Given the description of an element on the screen output the (x, y) to click on. 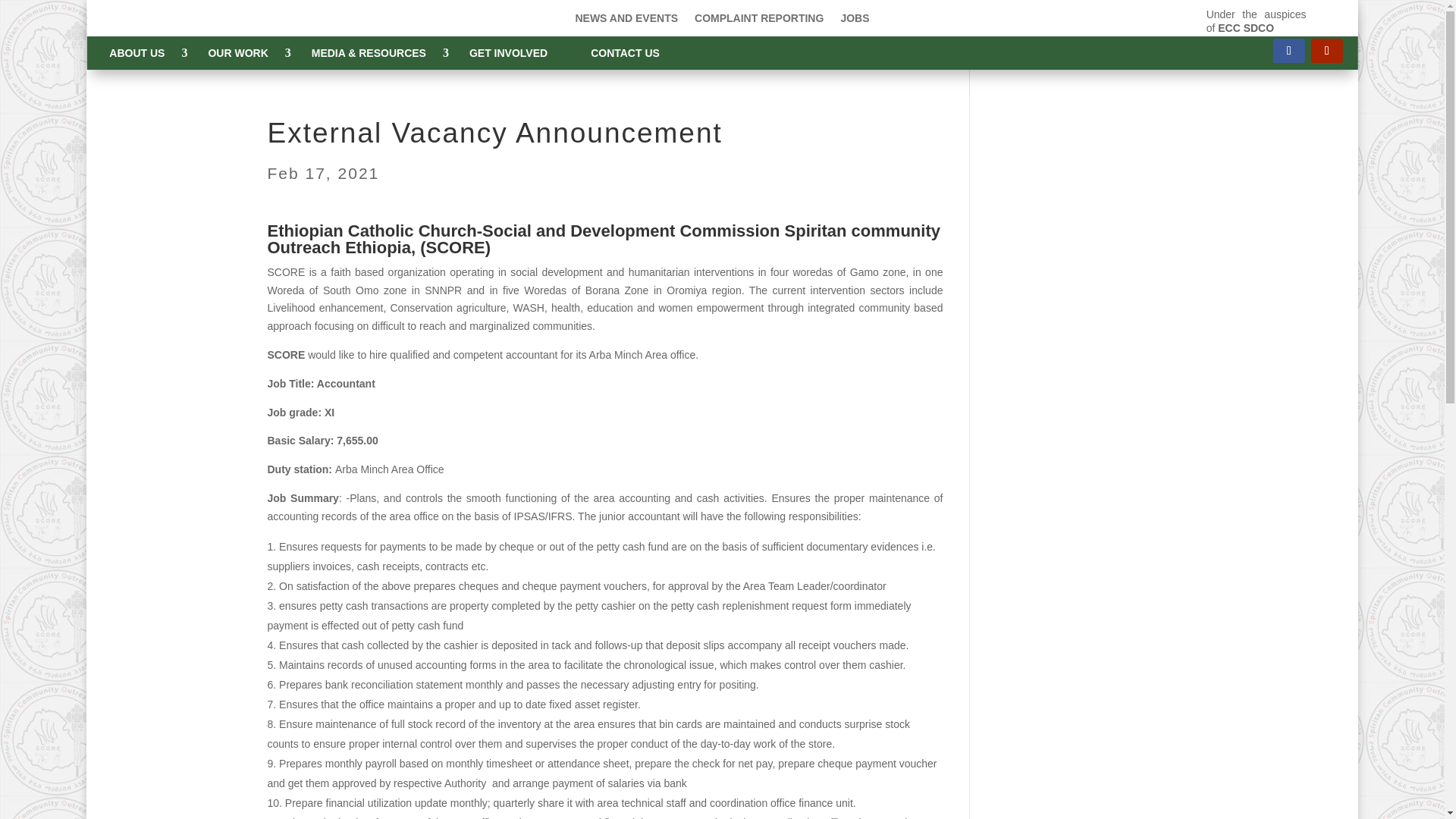
GET INVOLVED (513, 52)
Follow on Youtube (1326, 50)
JOBS (854, 21)
COMPLAINT REPORTING (759, 21)
CONTACT US (630, 52)
Follow on Facebook (1288, 50)
OUR WORK (243, 52)
NEWS AND EVENTS (626, 21)
ABOUT US (142, 52)
